Given the description of an element on the screen output the (x, y) to click on. 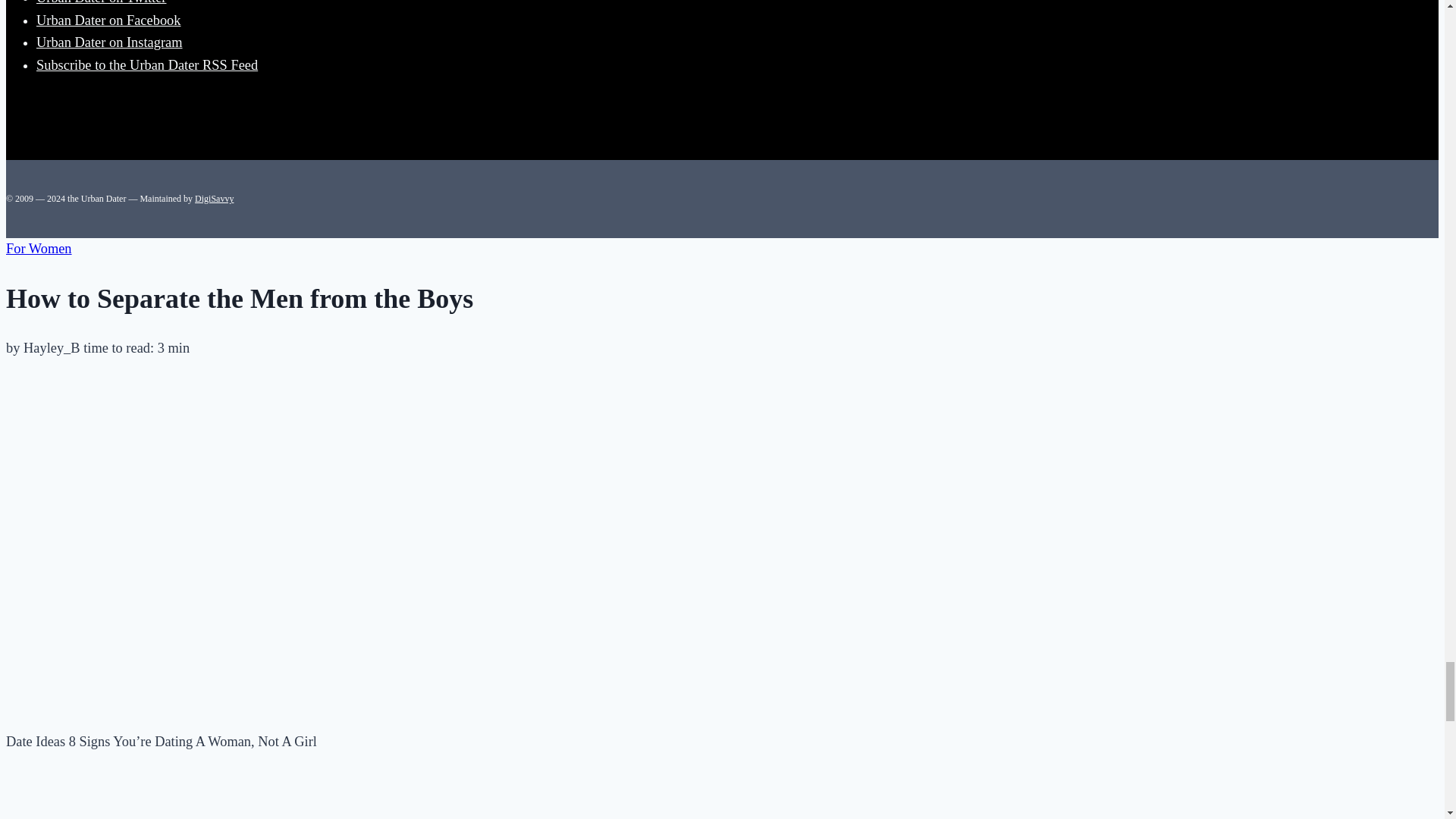
Urban Dater on Twitter (101, 2)
Urban Dater on Facebook (108, 20)
